Given the description of an element on the screen output the (x, y) to click on. 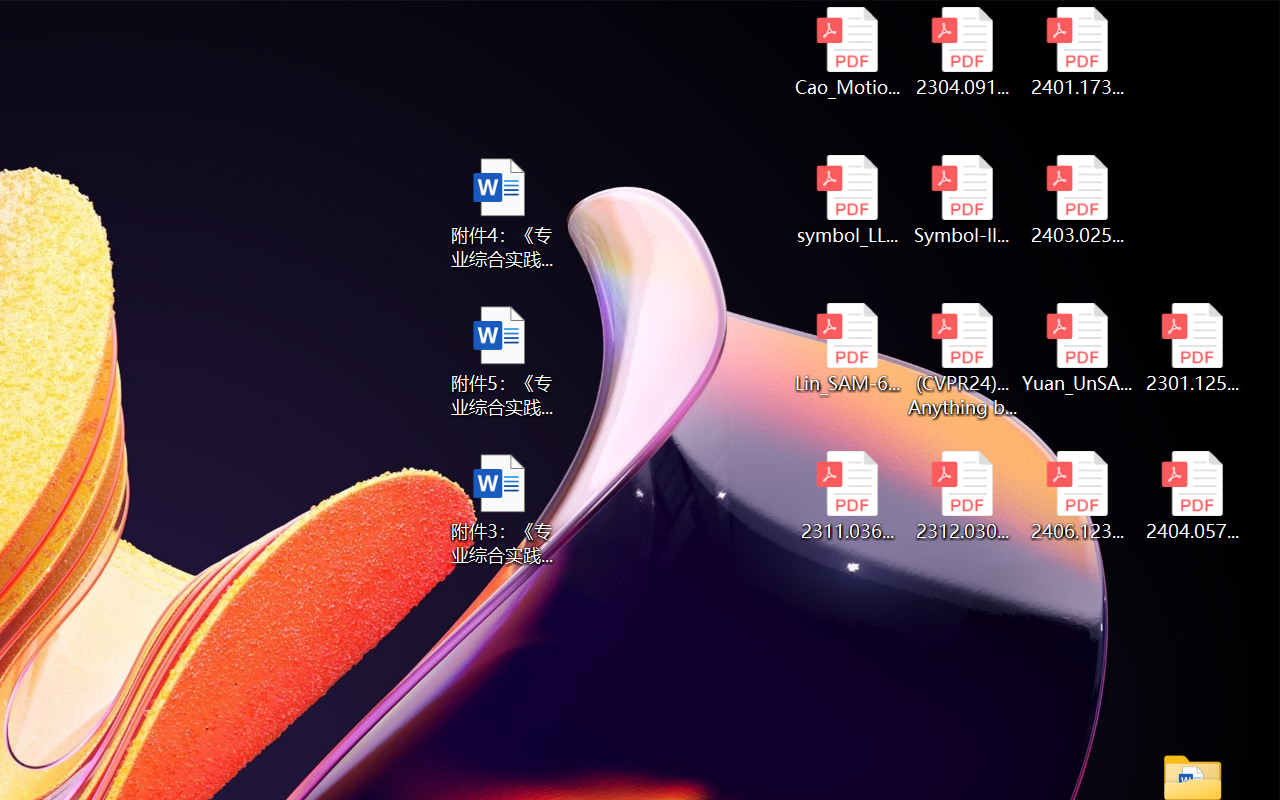
2401.17399v1.pdf (1077, 52)
